Given the description of an element on the screen output the (x, y) to click on. 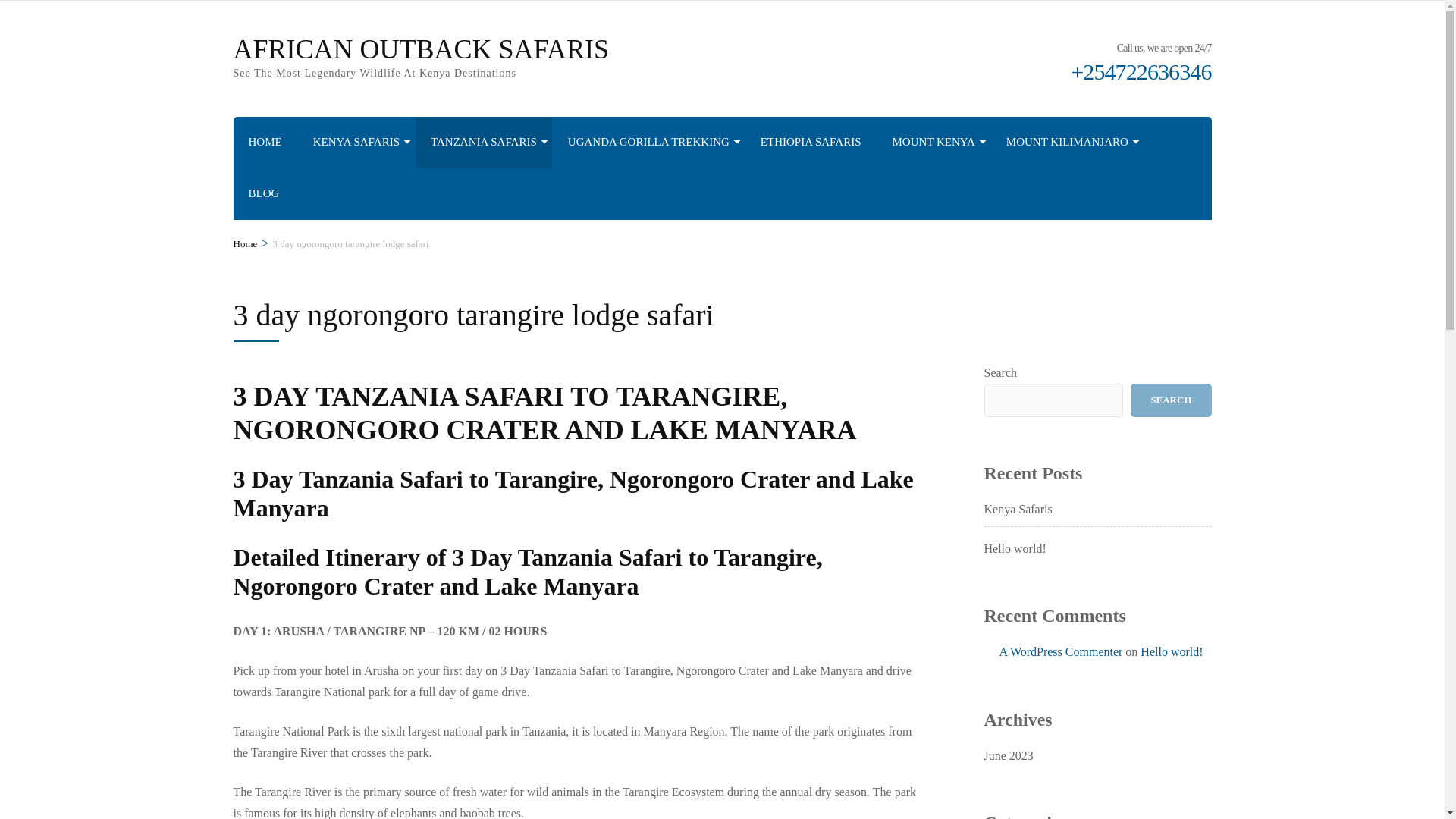
AFRICAN OUTBACK SAFARIS (420, 49)
MOUNT KILIMANJARO (1067, 142)
TANZANIA SAFARIS (483, 142)
MOUNT KENYA (933, 142)
ETHIOPIA SAFARIS (810, 142)
KENYA SAFARIS (355, 142)
UGANDA GORILLA TREKKING (648, 142)
